Given the description of an element on the screen output the (x, y) to click on. 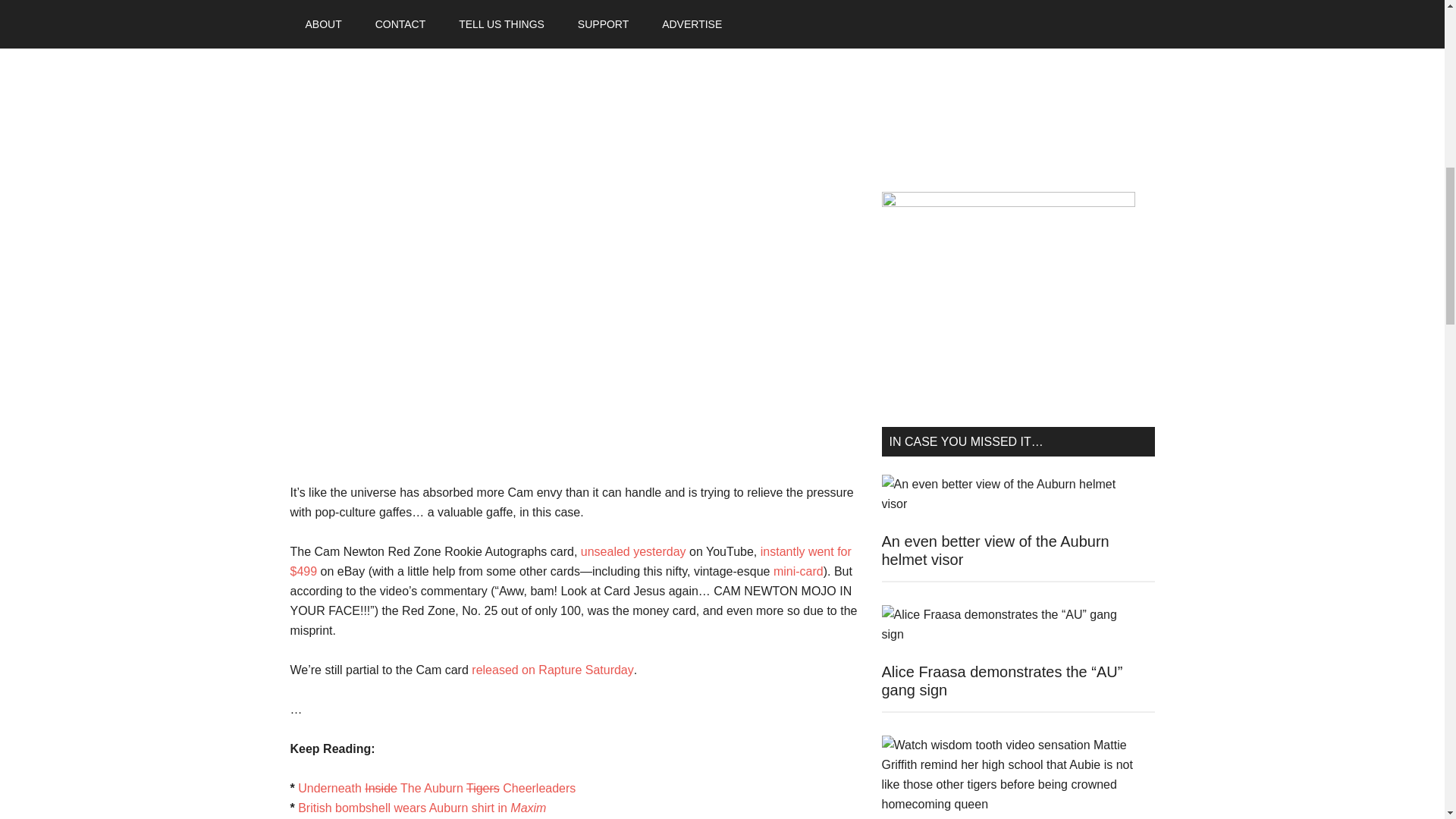
unsealed yesterday (632, 551)
